Given the description of an element on the screen output the (x, y) to click on. 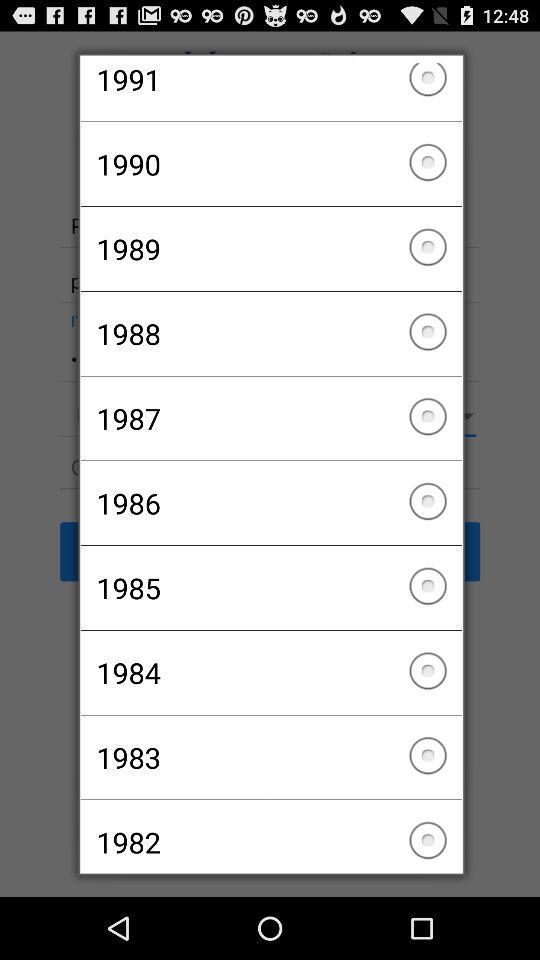
swipe to 1991 (270, 92)
